Given the description of an element on the screen output the (x, y) to click on. 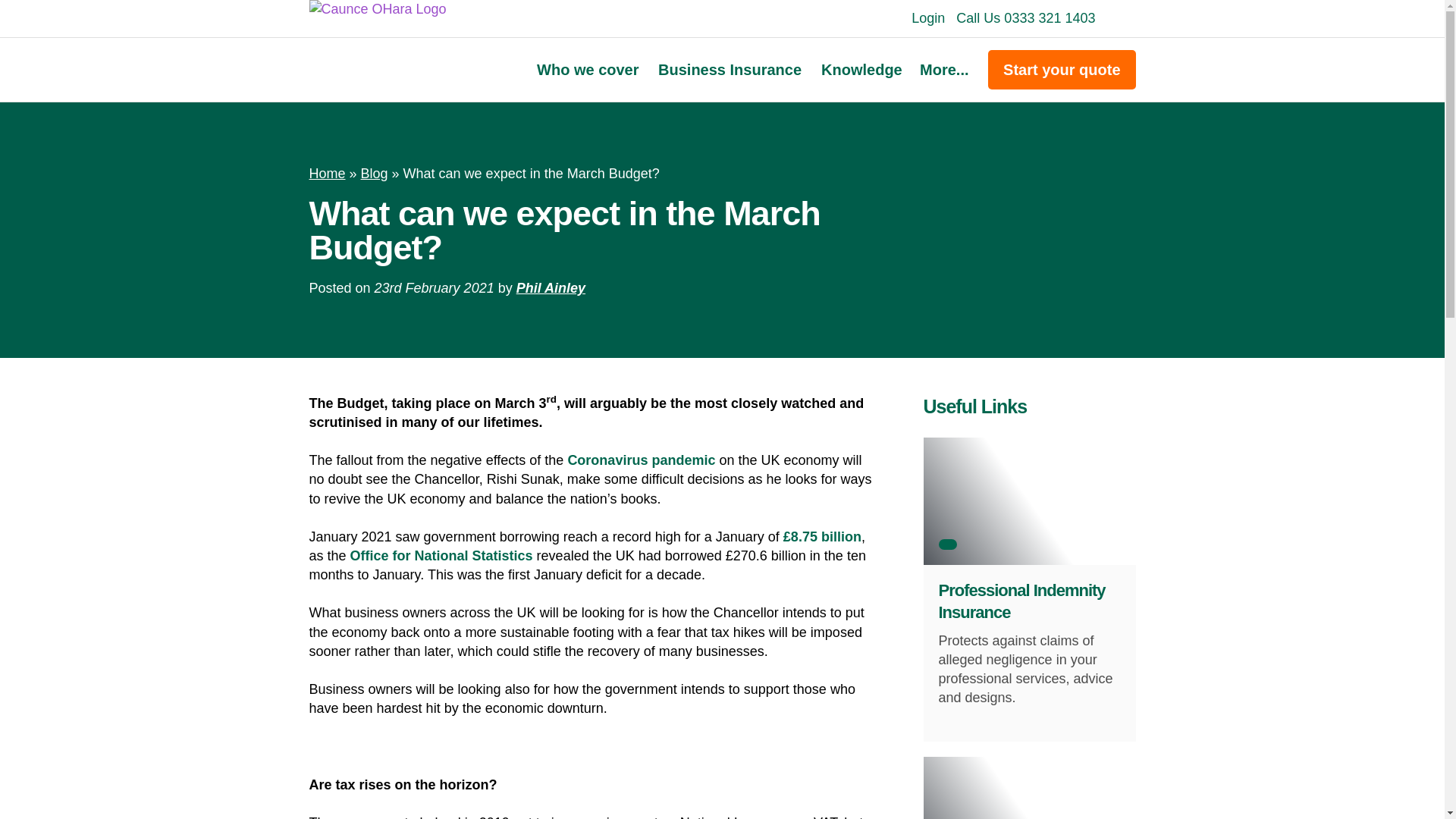
Login (927, 18)
Posts by Phil Ainley (550, 287)
Call Us 0333 321 1403 (1025, 18)
